Given the description of an element on the screen output the (x, y) to click on. 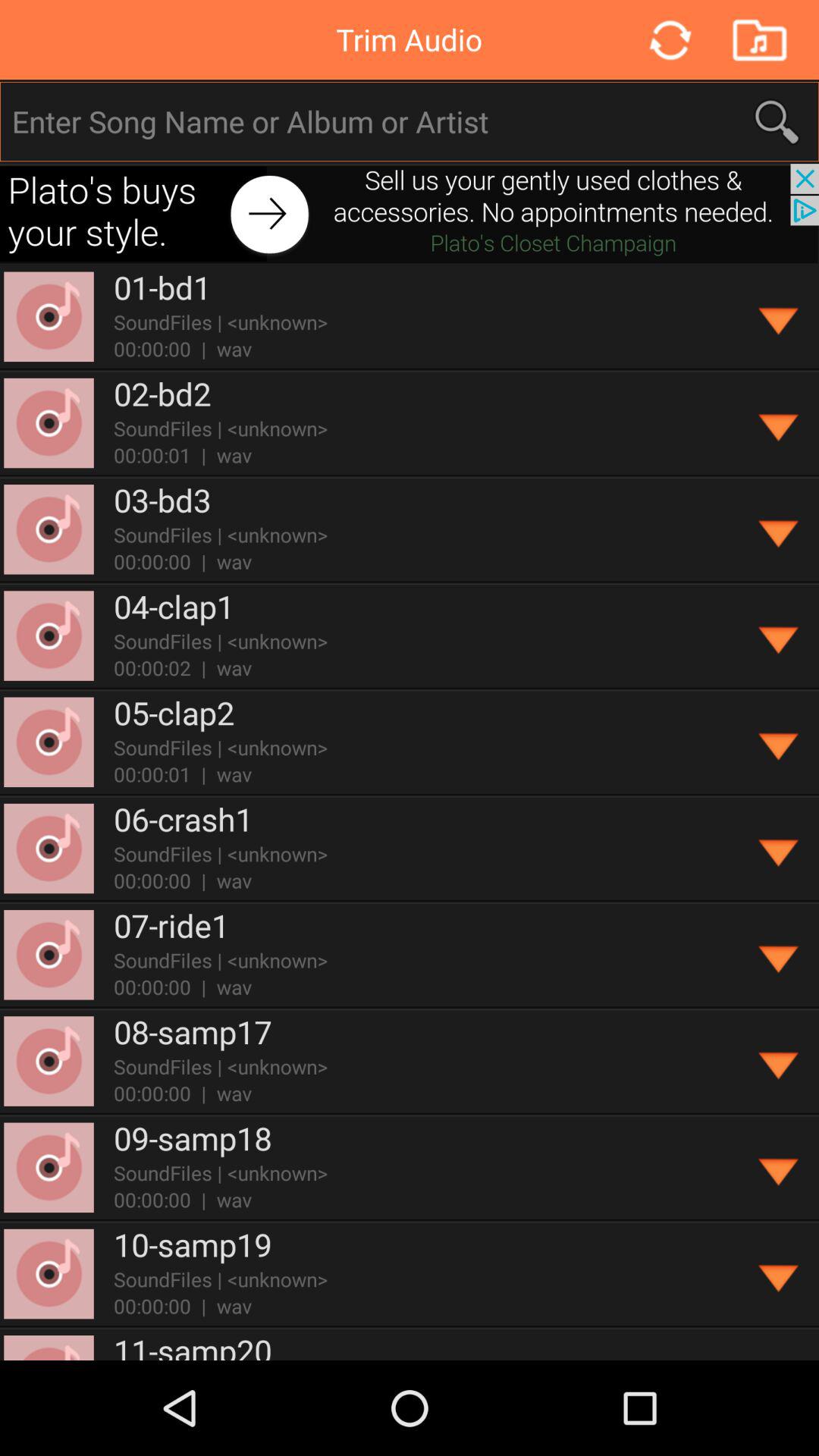
deploy information and options (779, 742)
